Given the description of an element on the screen output the (x, y) to click on. 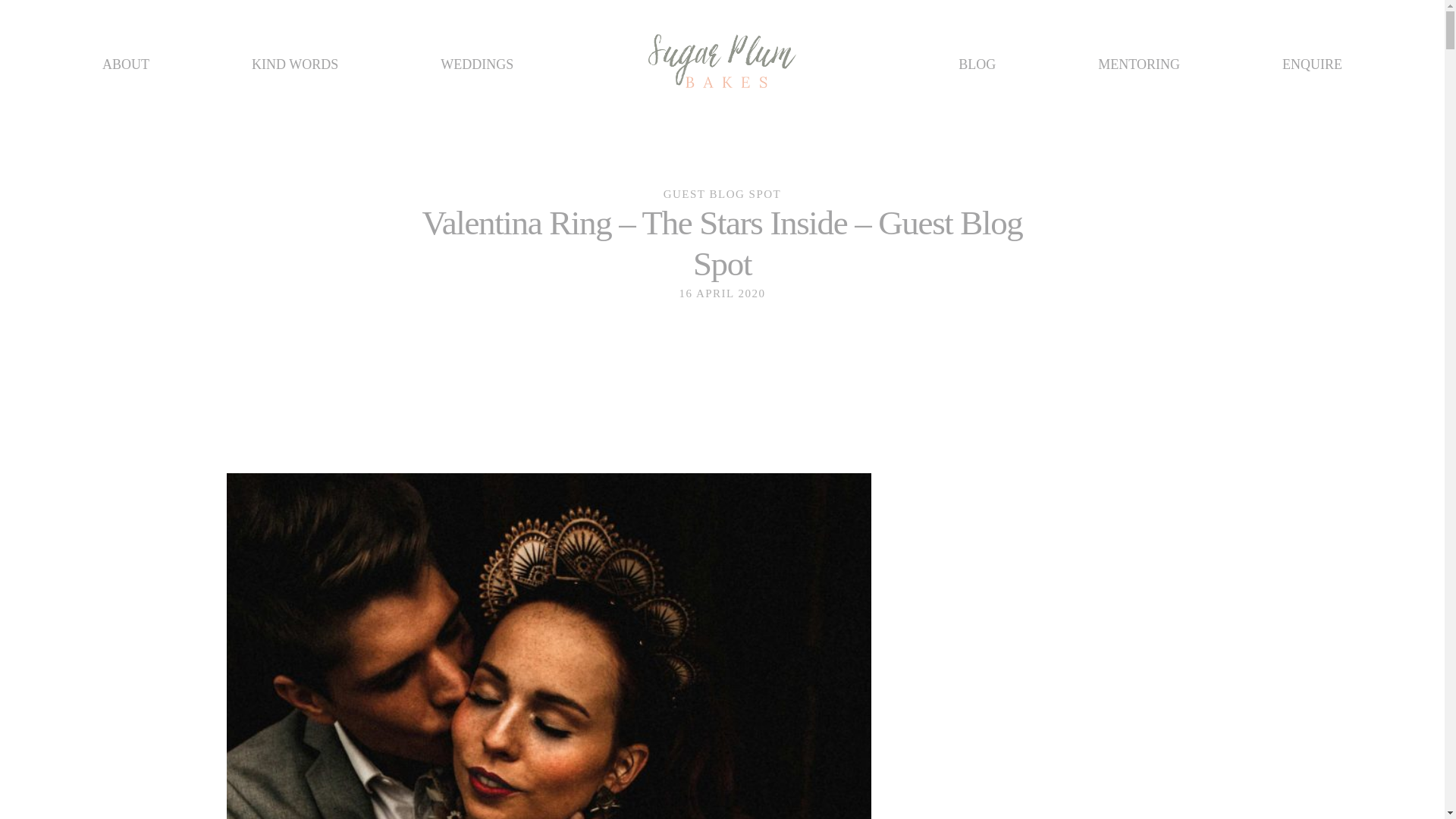
BLOG (976, 65)
WEDDINGS (477, 65)
ENQUIRE (1312, 65)
MENTORING (1138, 65)
KIND WORDS (294, 65)
ABOUT (125, 65)
GUEST BLOG SPOT (722, 193)
